Given the description of an element on the screen output the (x, y) to click on. 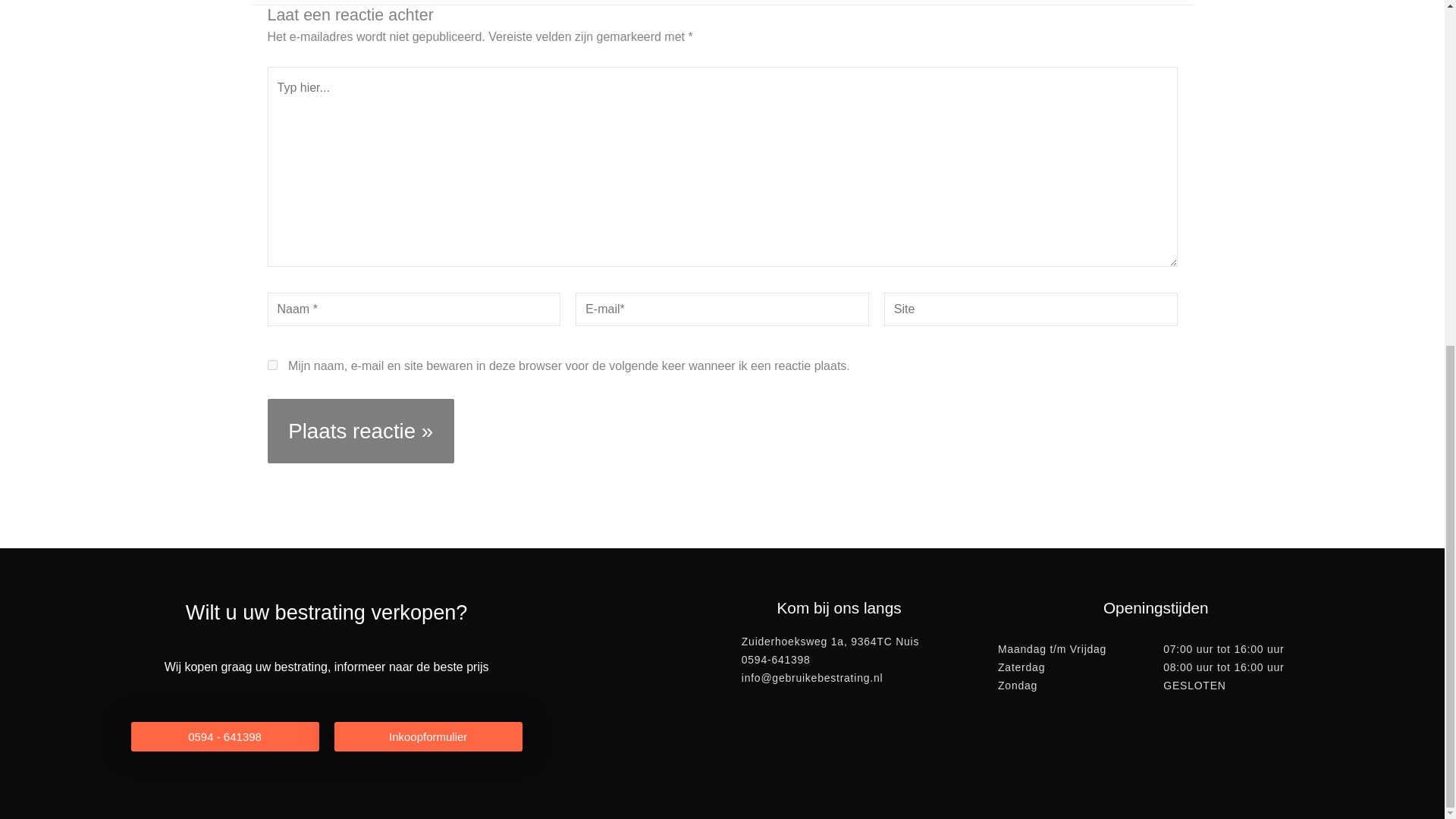
yes (271, 365)
